Given the description of an element on the screen output the (x, y) to click on. 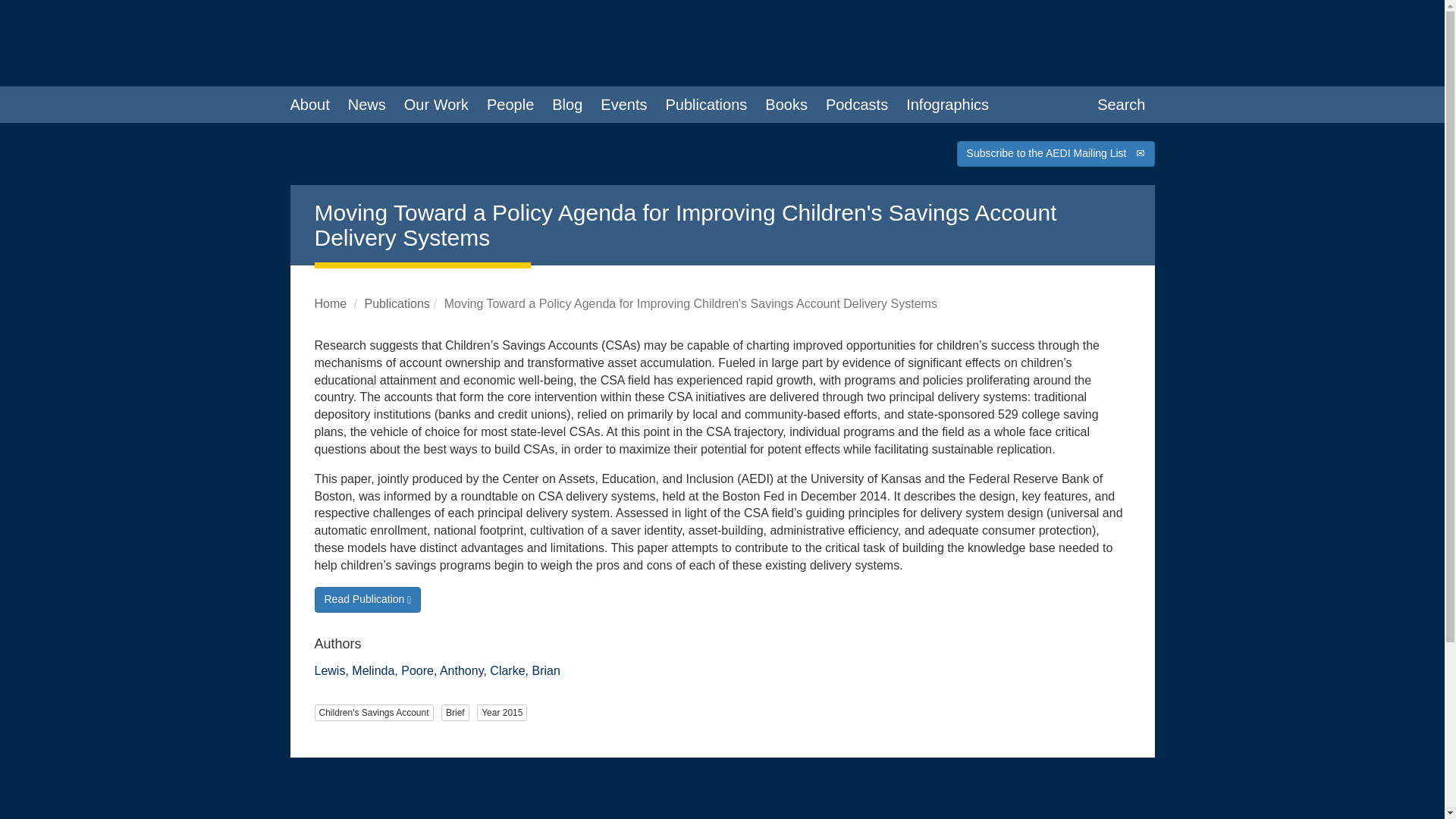
Our Work (435, 104)
Brief (454, 712)
Skip to main content (64, 7)
Year 2015 (502, 712)
Events (623, 104)
Infographics (946, 104)
Search (1120, 104)
Podcasts (856, 104)
About (309, 104)
Books (785, 104)
Home (330, 303)
People (510, 104)
Clarke, Brian (524, 670)
Lewis, Melinda (354, 670)
Publications (397, 303)
